Given the description of an element on the screen output the (x, y) to click on. 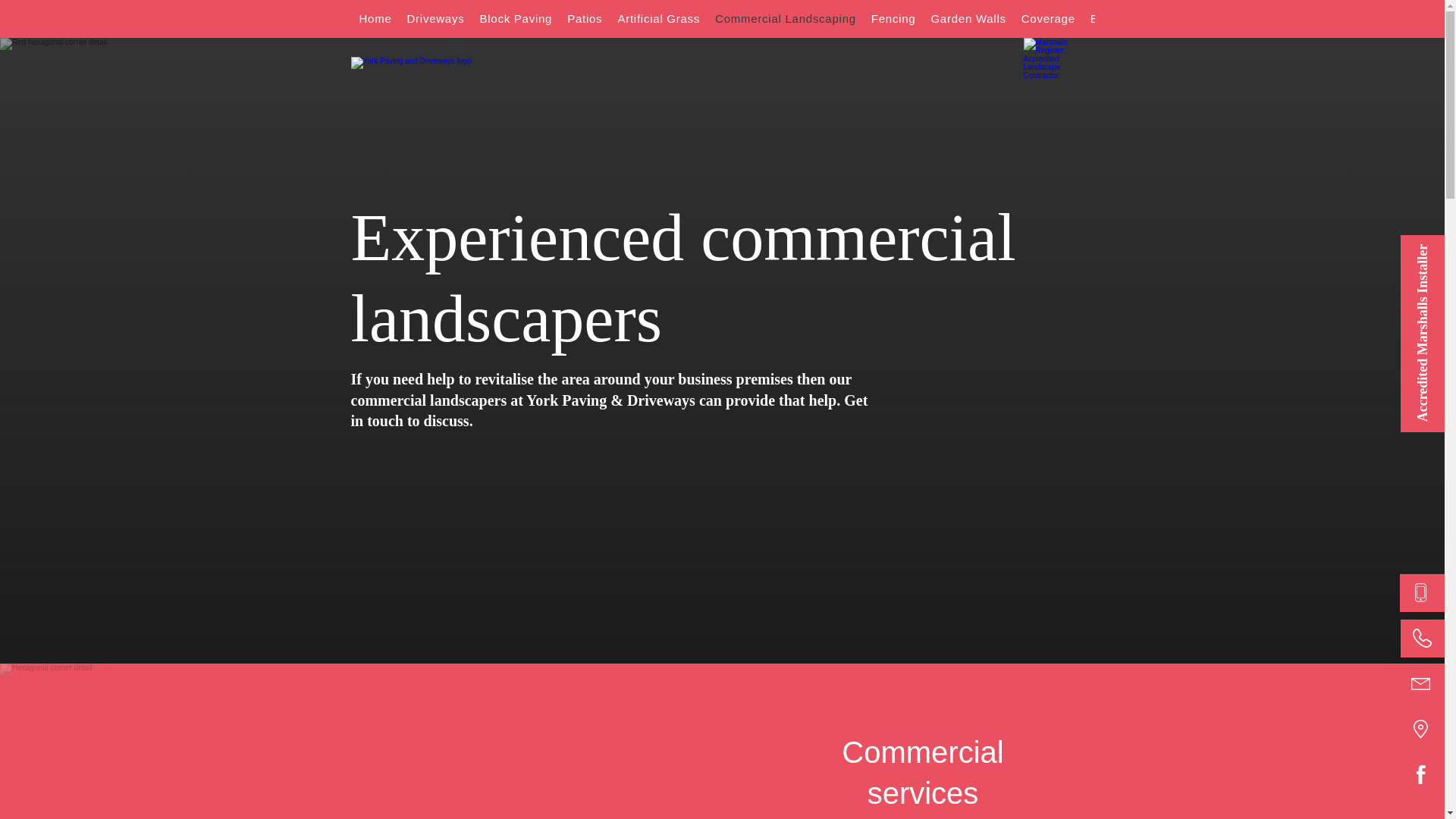
Patios (584, 18)
Fencing (893, 18)
Block Paving (515, 18)
Commercial Landscaping (785, 18)
Driveways (434, 18)
Home (375, 18)
Blog (1102, 18)
Artificial Grass (658, 18)
Contact (1151, 18)
